Given the description of an element on the screen output the (x, y) to click on. 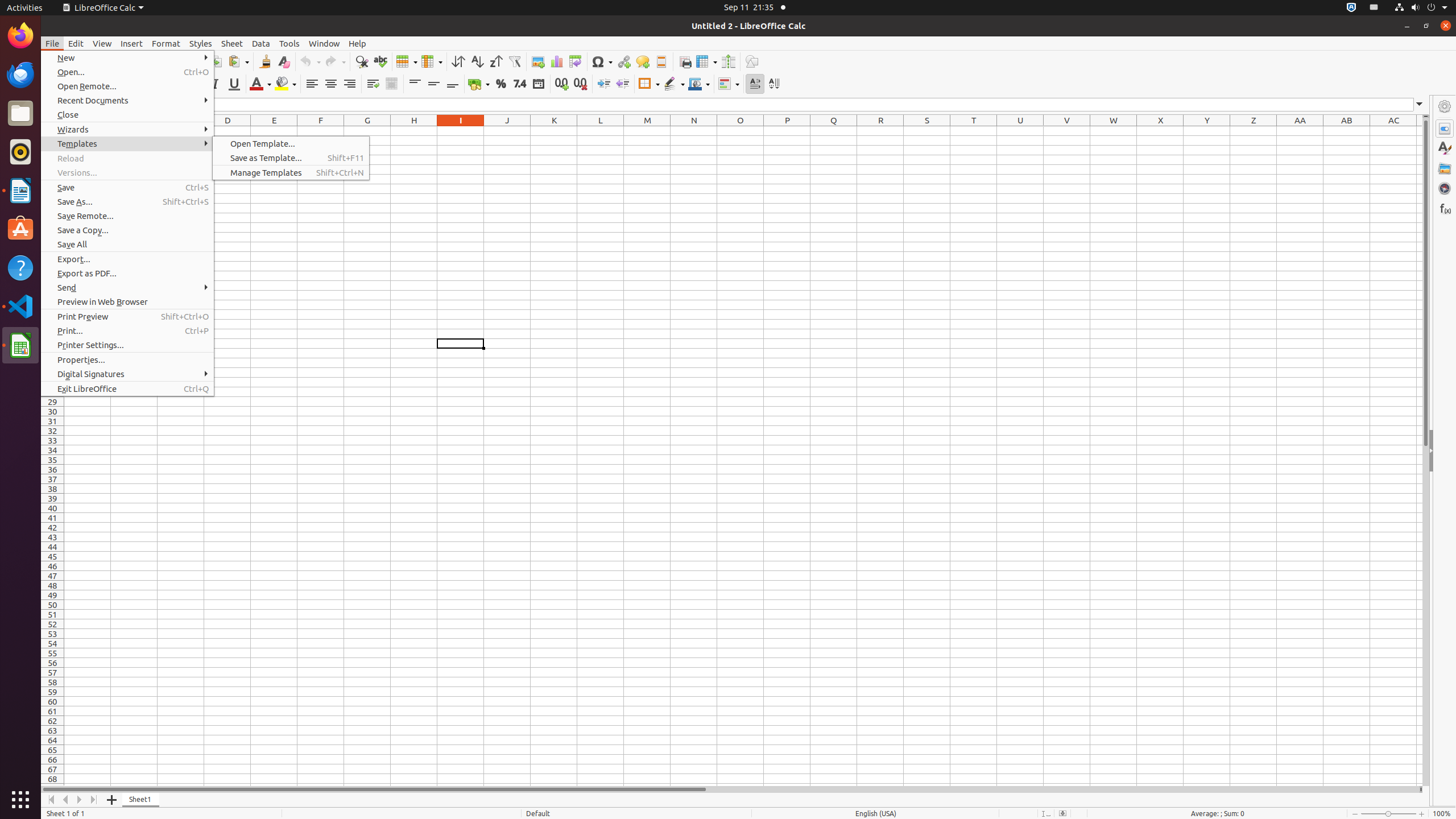
Vertical scroll bar Element type: scroll-bar (1425, 451)
Image Element type: push-button (537, 61)
G1 Element type: table-cell (367, 130)
Move To End Element type: push-button (94, 799)
